Given the description of an element on the screen output the (x, y) to click on. 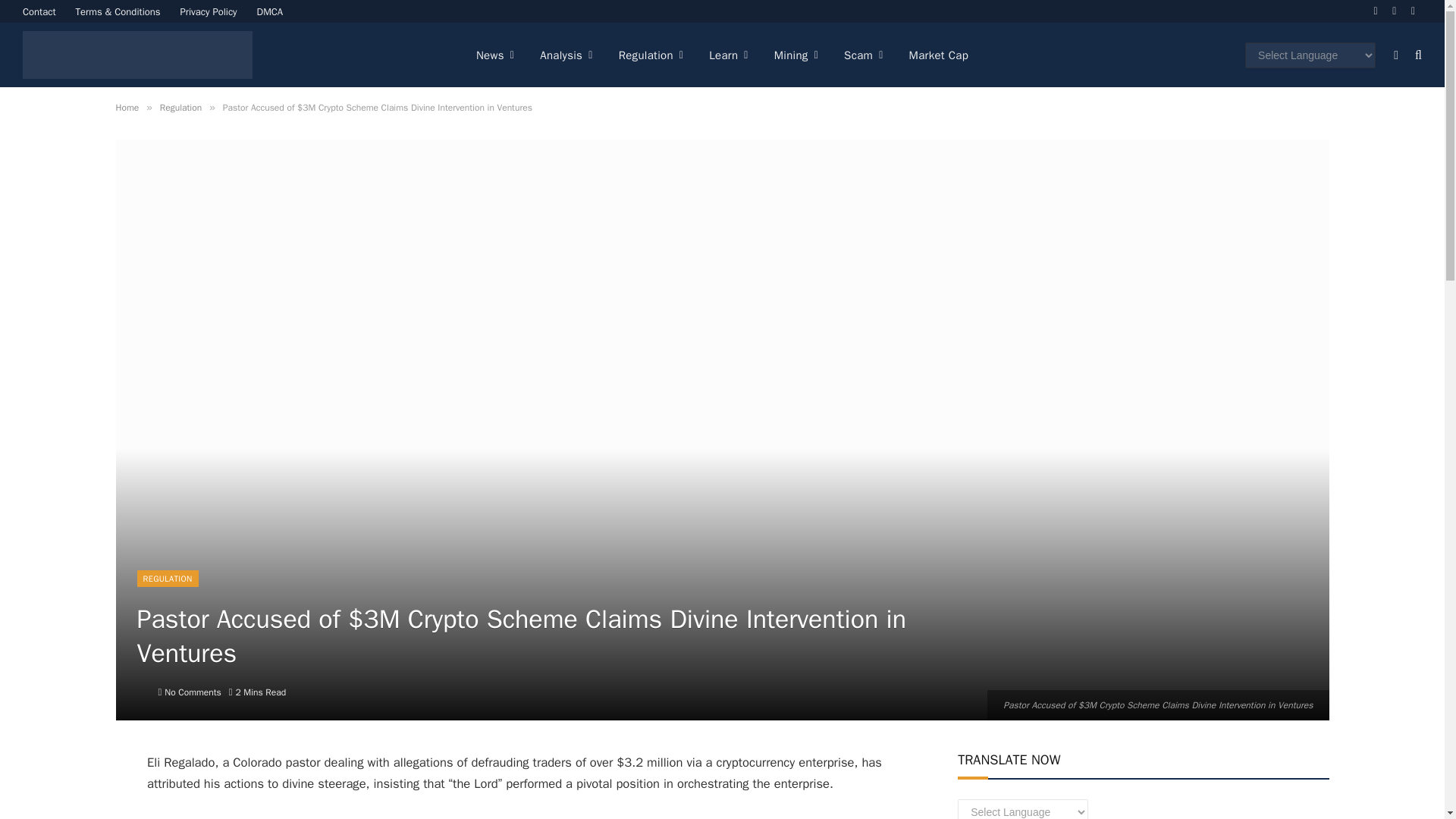
Facebook (1375, 11)
Contact (39, 11)
Privacy Policy (208, 11)
Instagram (1413, 11)
Analysis (566, 54)
DMCA (270, 11)
News (495, 54)
Crypto and Coin (137, 54)
